Given the description of an element on the screen output the (x, y) to click on. 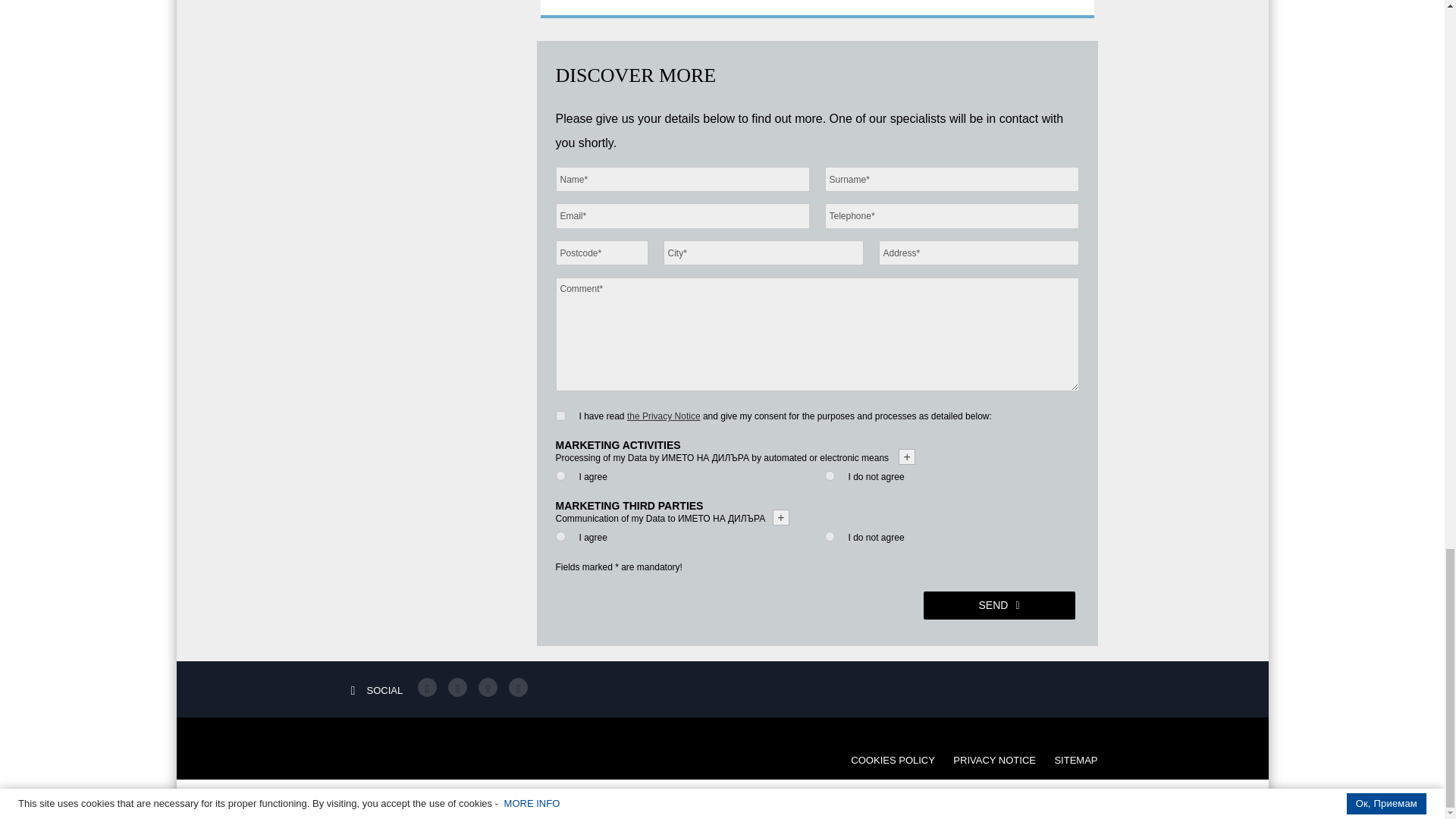
I do not agree (829, 475)
I agree (559, 475)
I agree (559, 536)
I do not agree (829, 536)
Yes (559, 415)
